Given the description of an element on the screen output the (x, y) to click on. 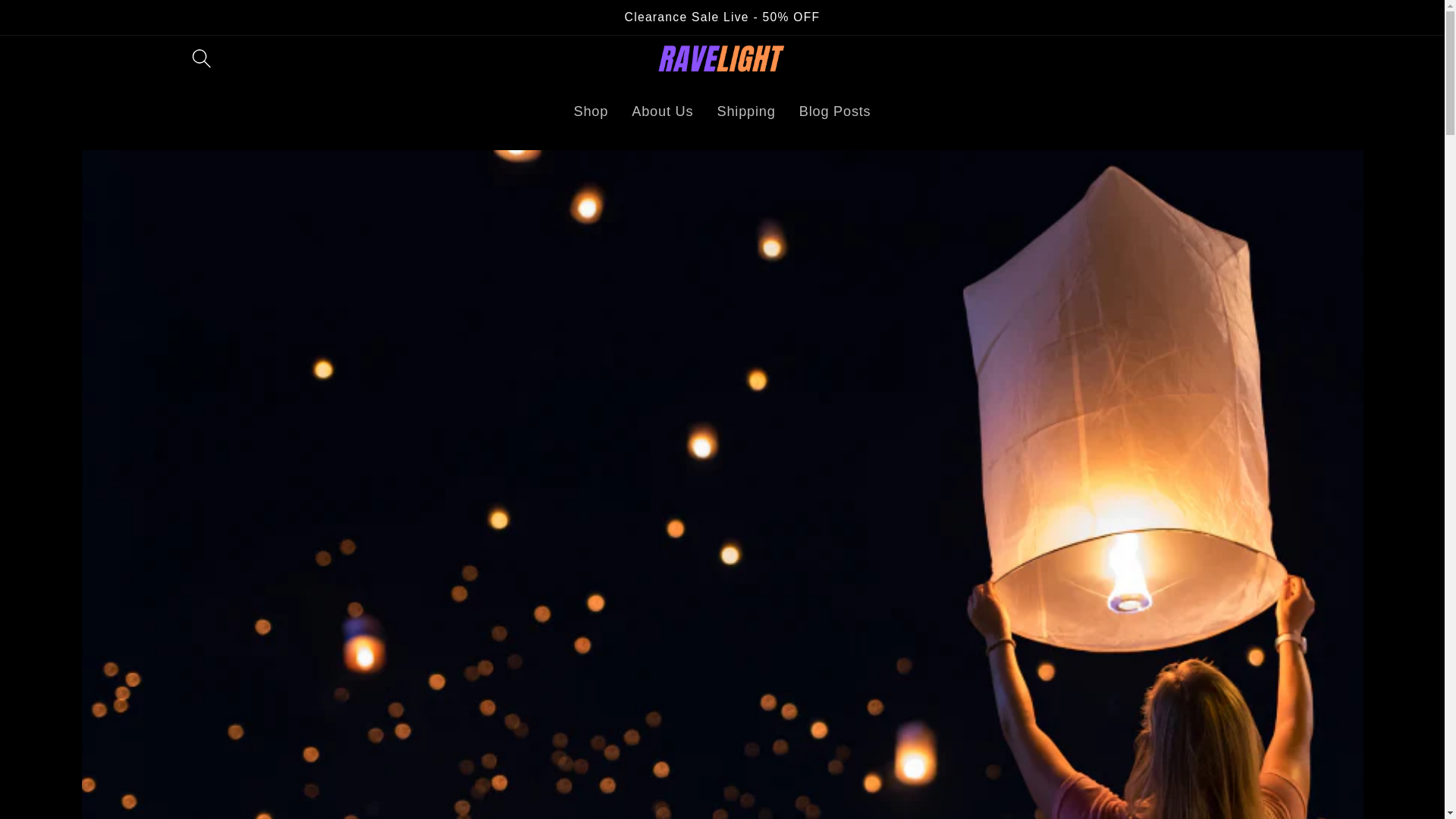
Shipping (745, 111)
Skip to content (67, 31)
Blog Posts (834, 111)
About Us (662, 111)
Cart (1254, 57)
Shop (591, 111)
